Given the description of an element on the screen output the (x, y) to click on. 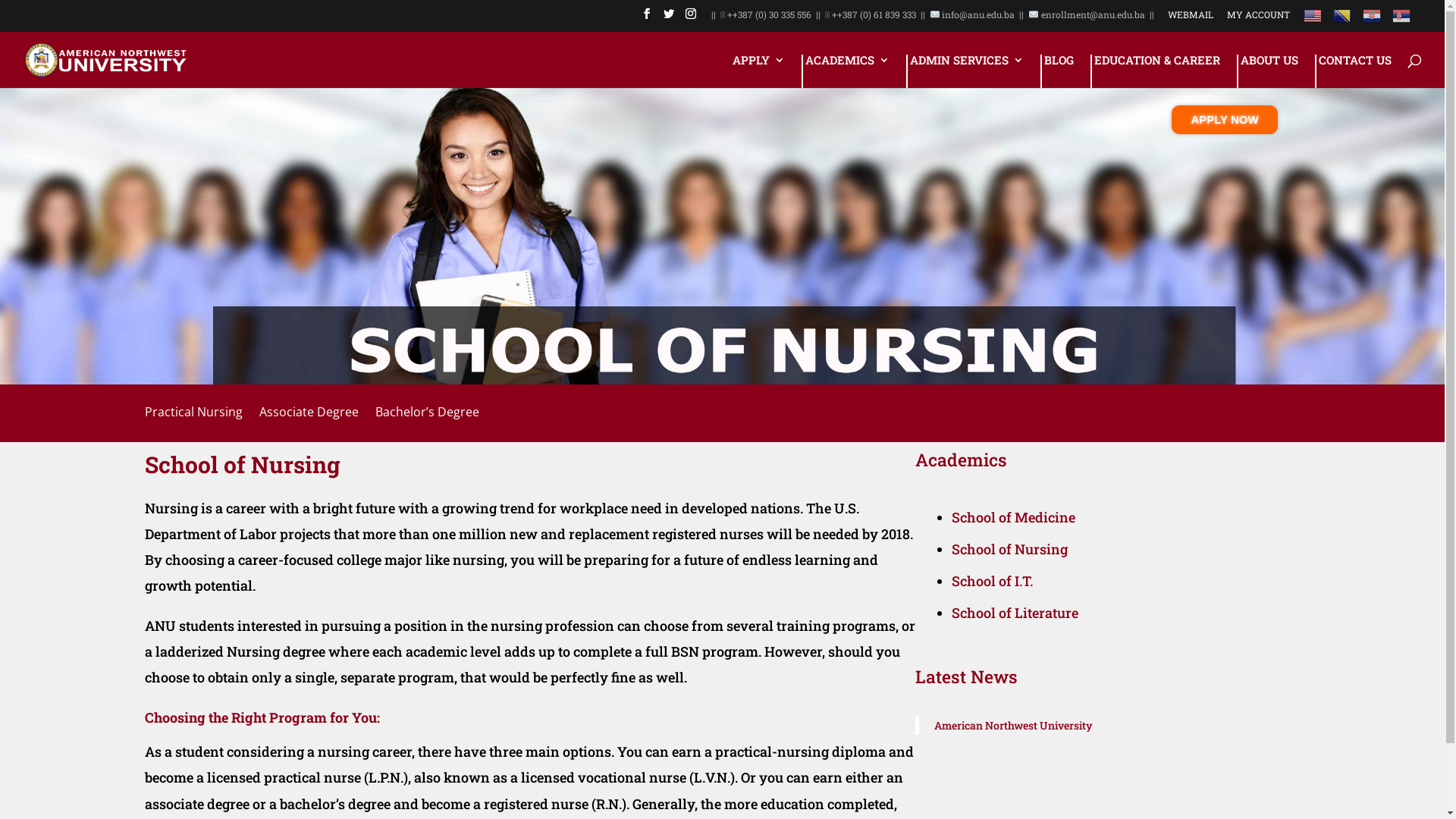
School of Medicine Element type: text (1012, 517)
Practical Nursing Element type: text (192, 400)
EDUCATION & CAREER Element type: text (1157, 70)
ACADEMICS Element type: text (847, 70)
APPLY Element type: text (758, 70)
MY ACCOUNT Element type: text (1257, 17)
Bosnian Element type: hover (1342, 18)
APPLY NOW Element type: text (1224, 119)
CONTACT US Element type: text (1354, 70)
WEBMAIL Element type: text (1190, 17)
BLOG Element type: text (1058, 70)
English Element type: hover (1312, 18)
American Northwest University Element type: text (1013, 725)
School of I.T. Element type: text (991, 580)
Croatian Element type: hover (1371, 18)
Associate Degree Element type: text (308, 400)
School of Literature Element type: text (1013, 612)
Serbian Element type: hover (1401, 18)
ABOUT US Element type: text (1269, 70)
School of Nursing Element type: text (1008, 548)
ADMIN SERVICES Element type: text (966, 70)
